Given the description of an element on the screen output the (x, y) to click on. 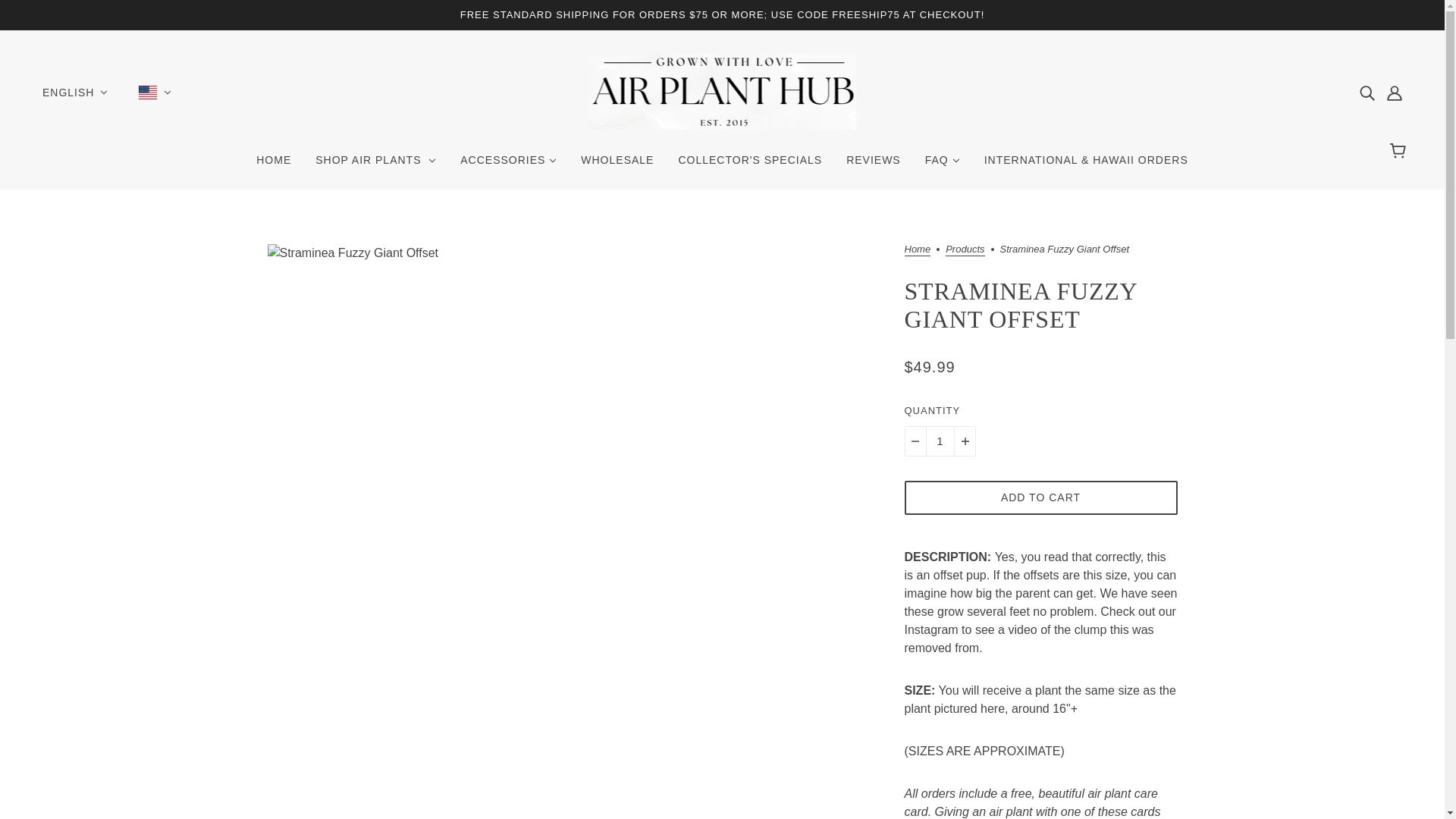
Home (917, 250)
FAQ  (942, 165)
REVIEWS (873, 165)
HOME (273, 165)
Products (964, 250)
ACCESSORIES  (508, 165)
ADD TO CART (1040, 497)
SHOP AIR PLANTS   (375, 165)
Air Plant Hub  (722, 124)
1 (938, 440)
COLLECTOR'S SPECIALS (749, 165)
WHOLESALE (617, 165)
ENGLISH (74, 92)
